Given the description of an element on the screen output the (x, y) to click on. 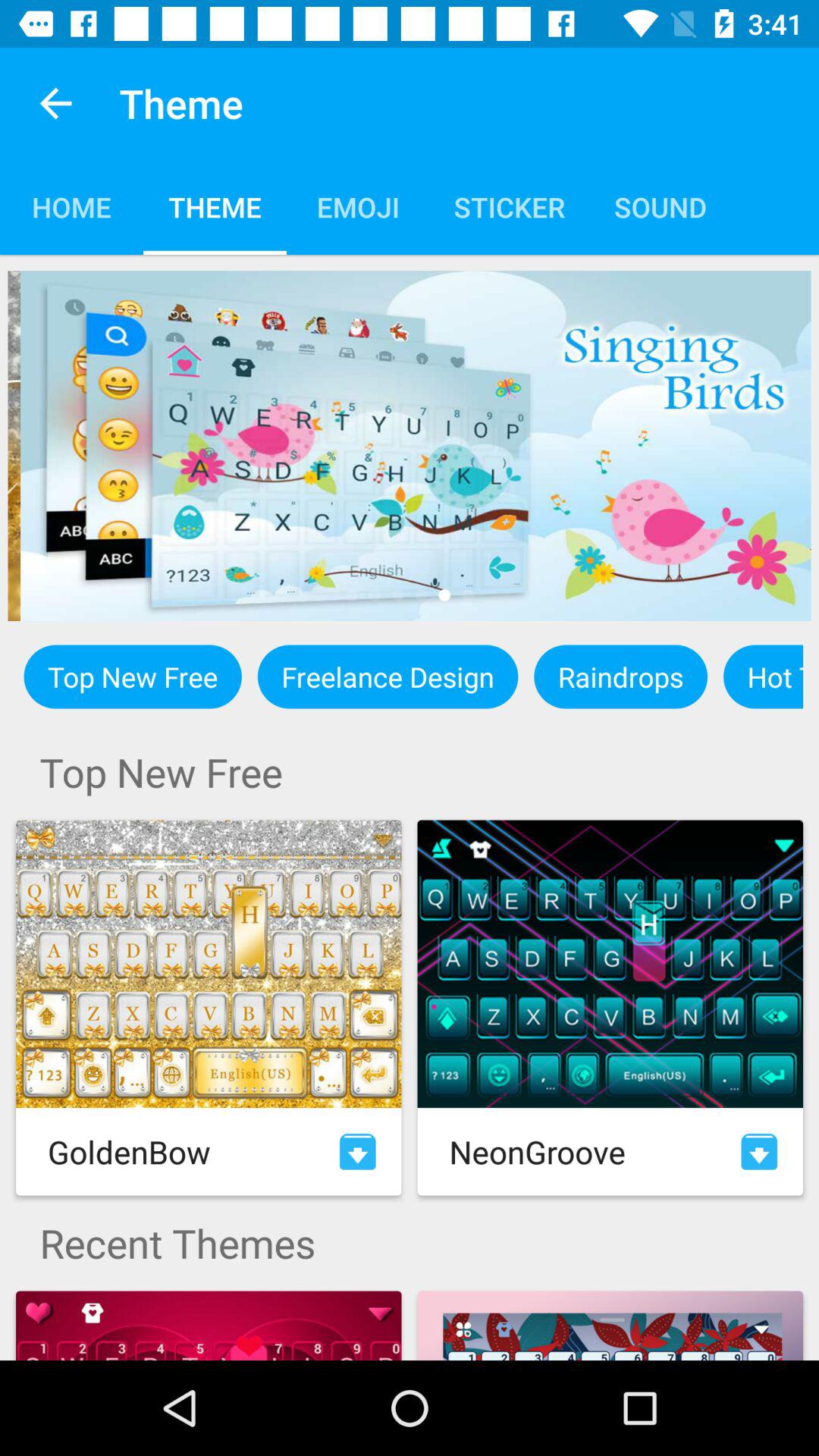
click item below the home (409, 445)
